Given the description of an element on the screen output the (x, y) to click on. 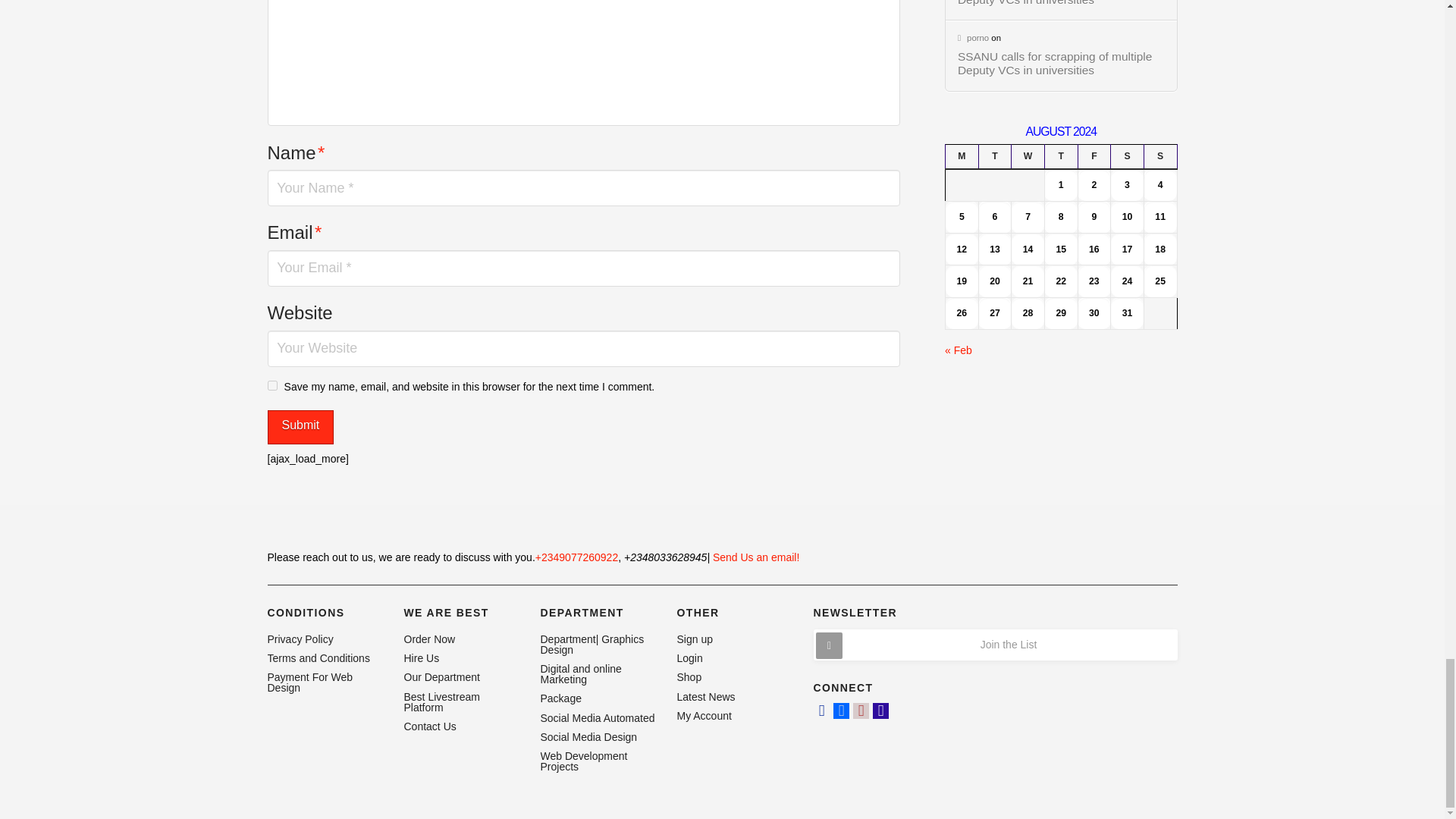
Saturday (1127, 156)
Friday (1093, 156)
porno (973, 37)
Wednesday (1028, 156)
Sunday (1159, 156)
Thursday (1060, 156)
Submit (299, 427)
Monday (961, 156)
Submit (299, 427)
